Given the description of an element on the screen output the (x, y) to click on. 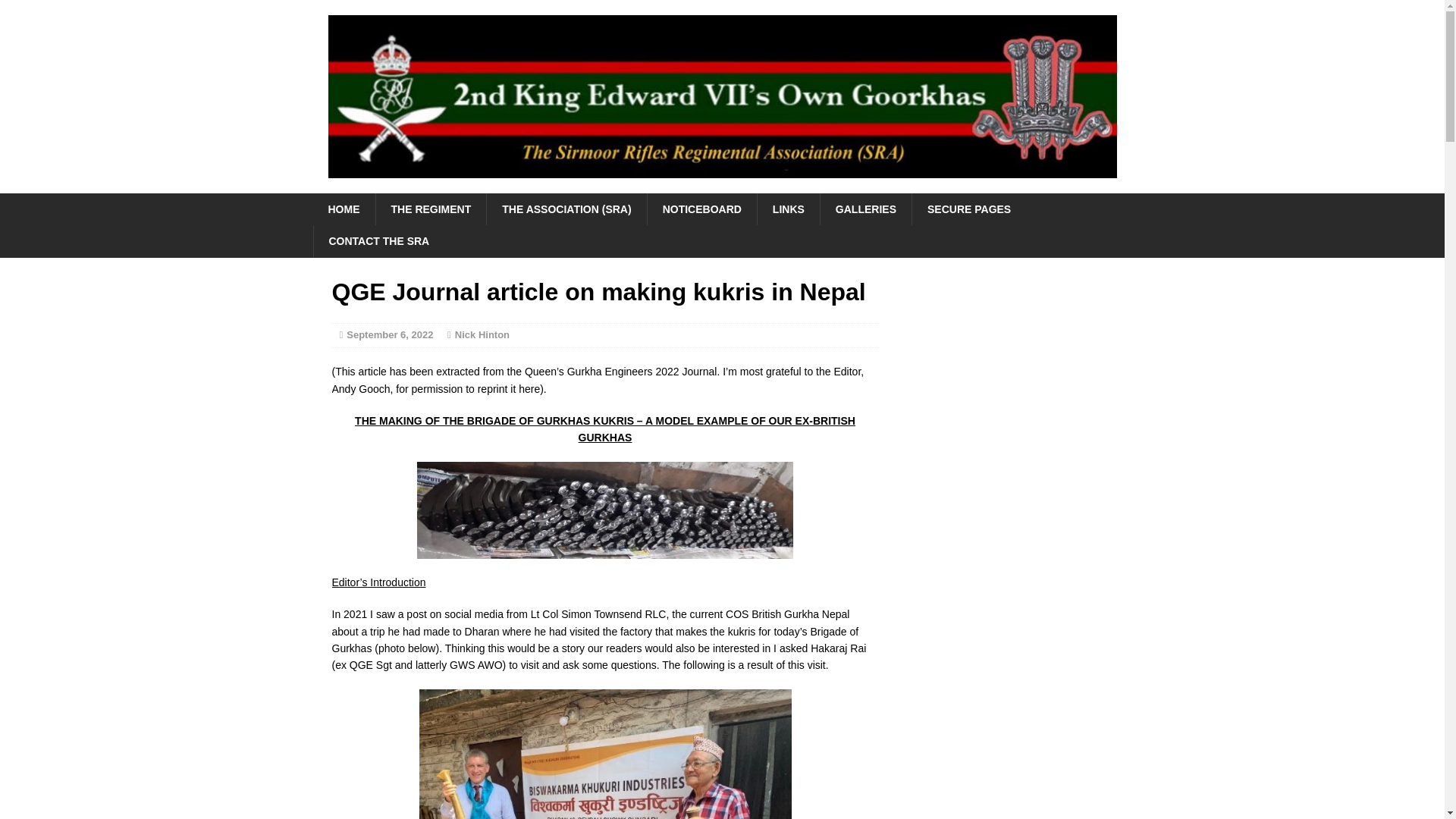
THE REGIMENT (430, 209)
HOME (343, 209)
